Given the description of an element on the screen output the (x, y) to click on. 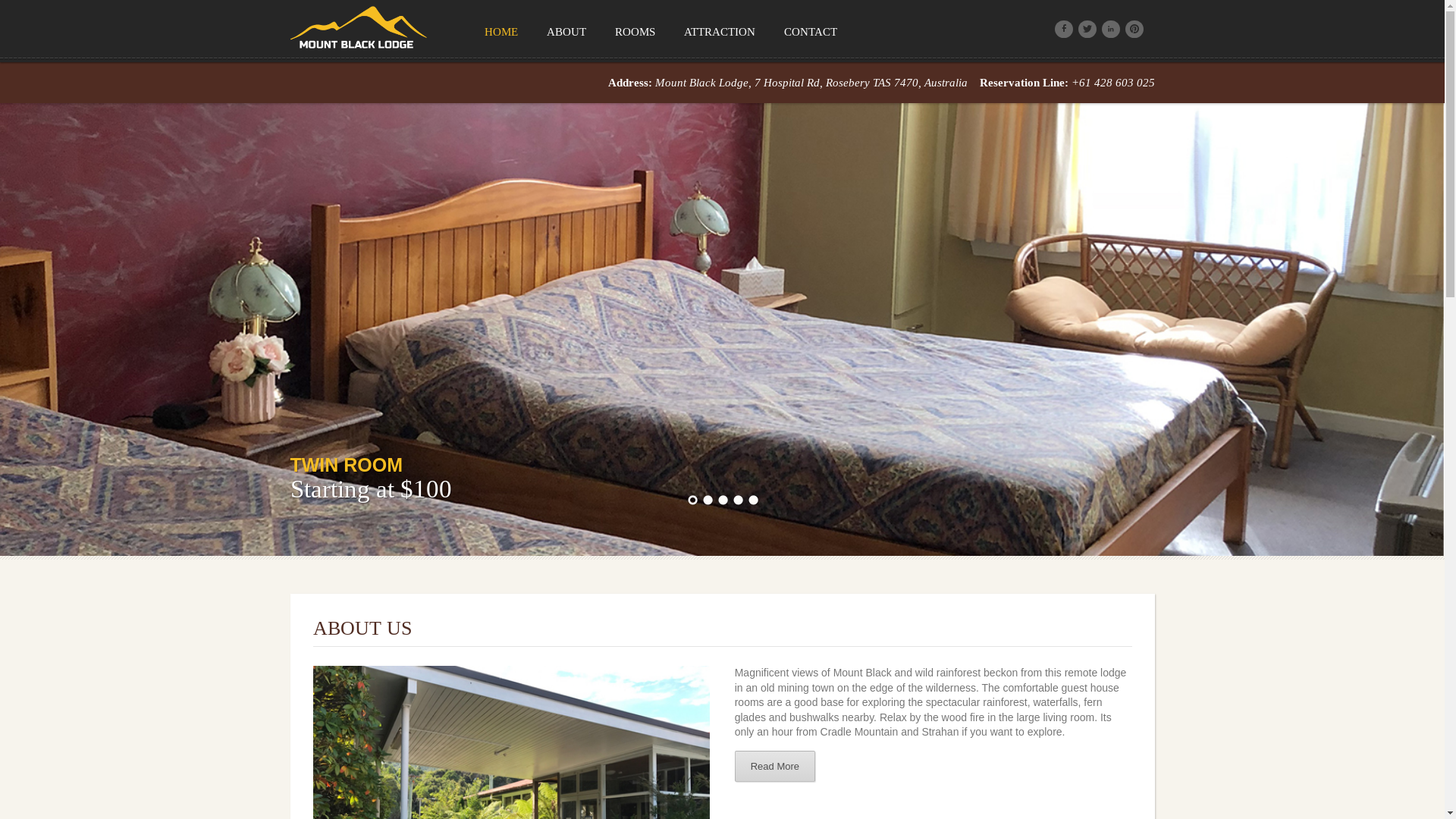
2 Element type: text (707, 500)
HOME Element type: text (499, 31)
ROOMS Element type: text (633, 31)
5 Element type: text (752, 500)
4 Element type: text (737, 500)
ABOUT Element type: text (564, 31)
CONTACT Element type: text (809, 31)
3 Element type: text (722, 500)
ATTRACTION Element type: text (718, 31)
1 Element type: text (692, 500)
Read More Element type: text (774, 765)
